Given the description of an element on the screen output the (x, y) to click on. 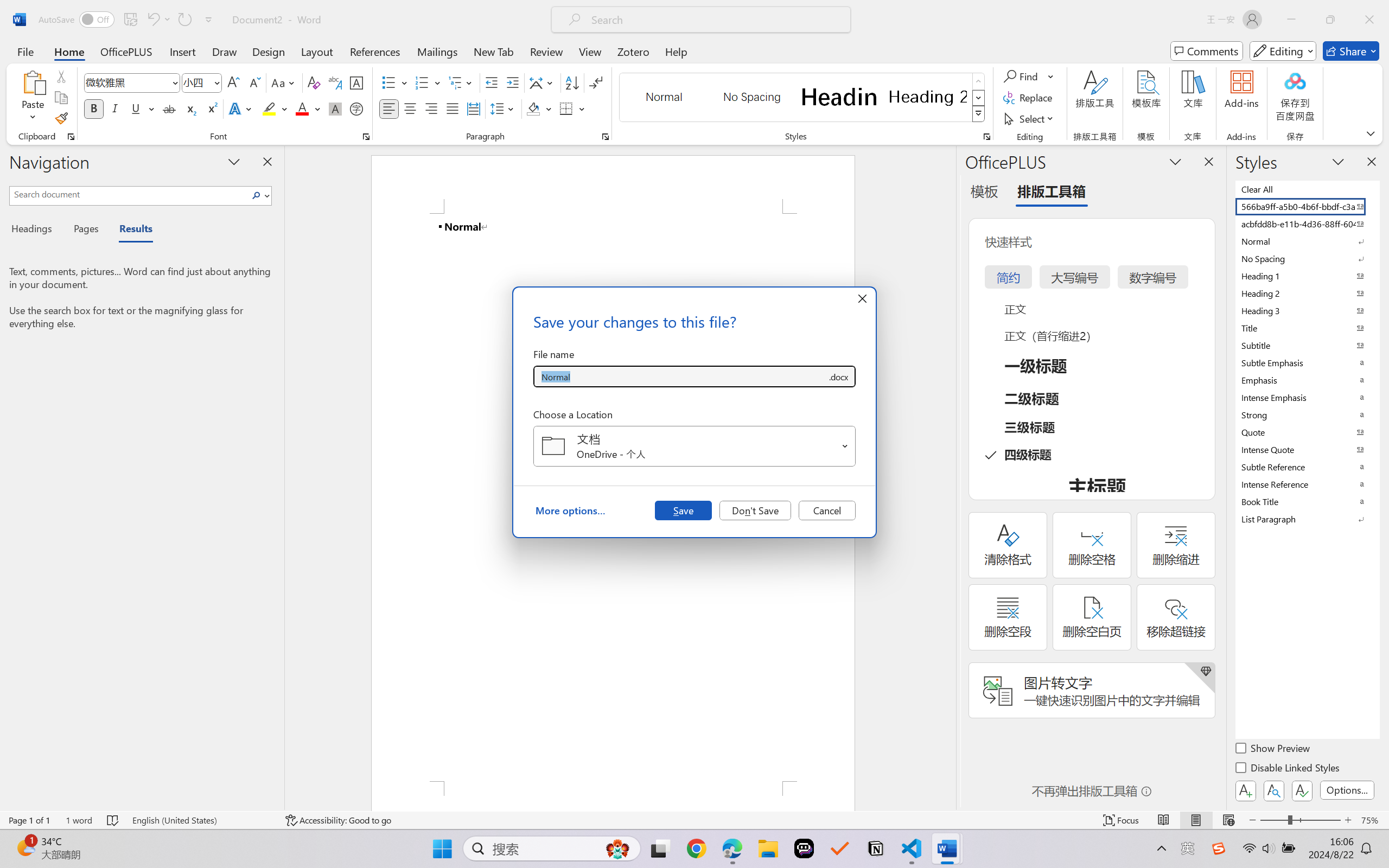
Poe (804, 848)
Heading 3 (1306, 310)
Emphasis (1306, 379)
AutomationID: QuickStylesGallery (802, 97)
Bold (94, 108)
Grow Font (233, 82)
Open (844, 446)
Review (546, 51)
Strong (1306, 414)
Subtitle (1306, 345)
Font Size (196, 82)
Strikethrough (169, 108)
